Given the description of an element on the screen output the (x, y) to click on. 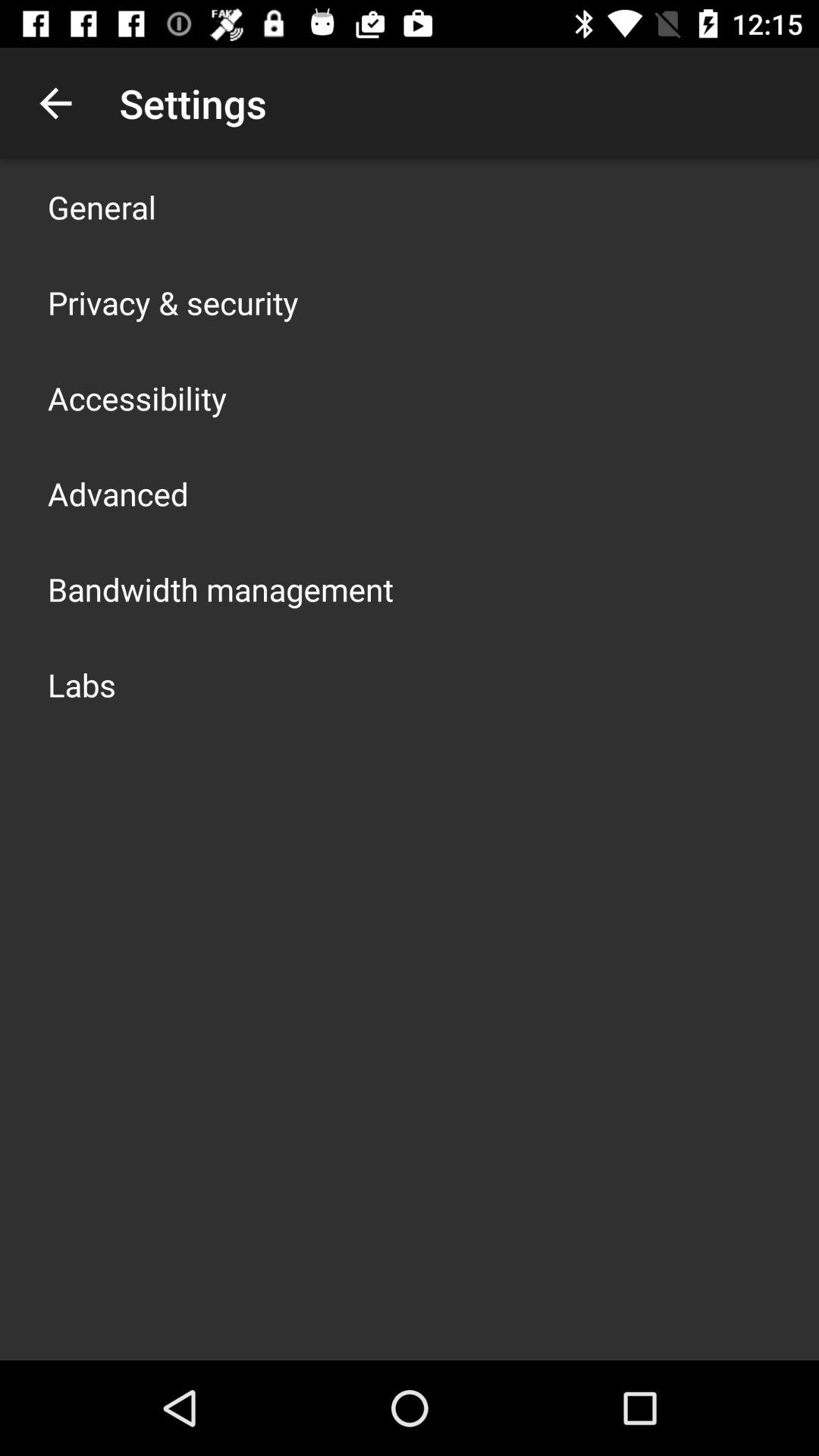
tap general app (101, 206)
